Given the description of an element on the screen output the (x, y) to click on. 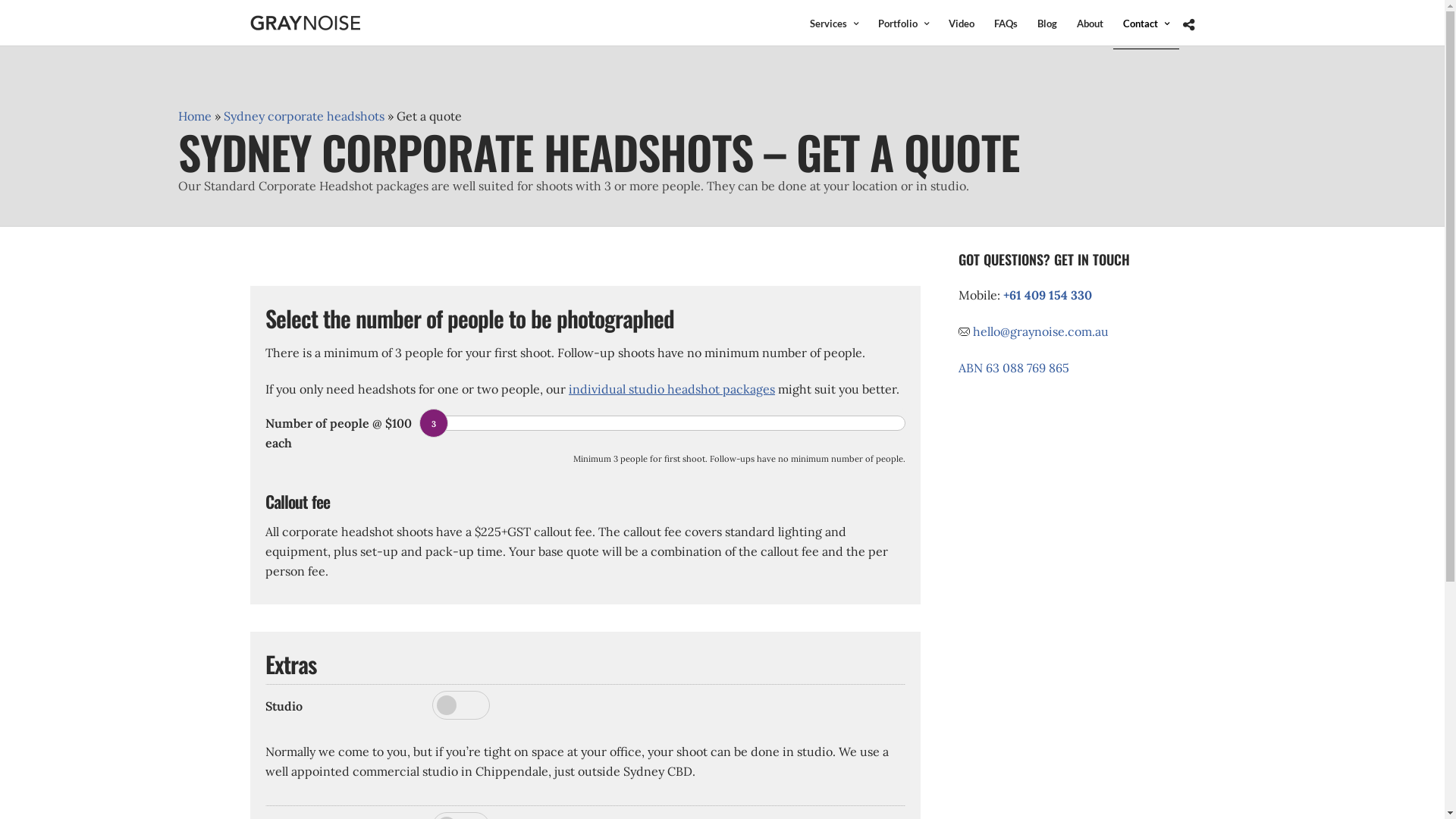
ABN 63 088 769 865 Element type: text (1013, 367)
individual studio headshot packages Element type: text (671, 388)
+61 409 154 330 Element type: text (1047, 294)
Sydney corporate headshots Element type: text (303, 115)
Home Element type: text (194, 115)
hello@graynoise.com.au Element type: text (1040, 330)
